Given the description of an element on the screen output the (x, y) to click on. 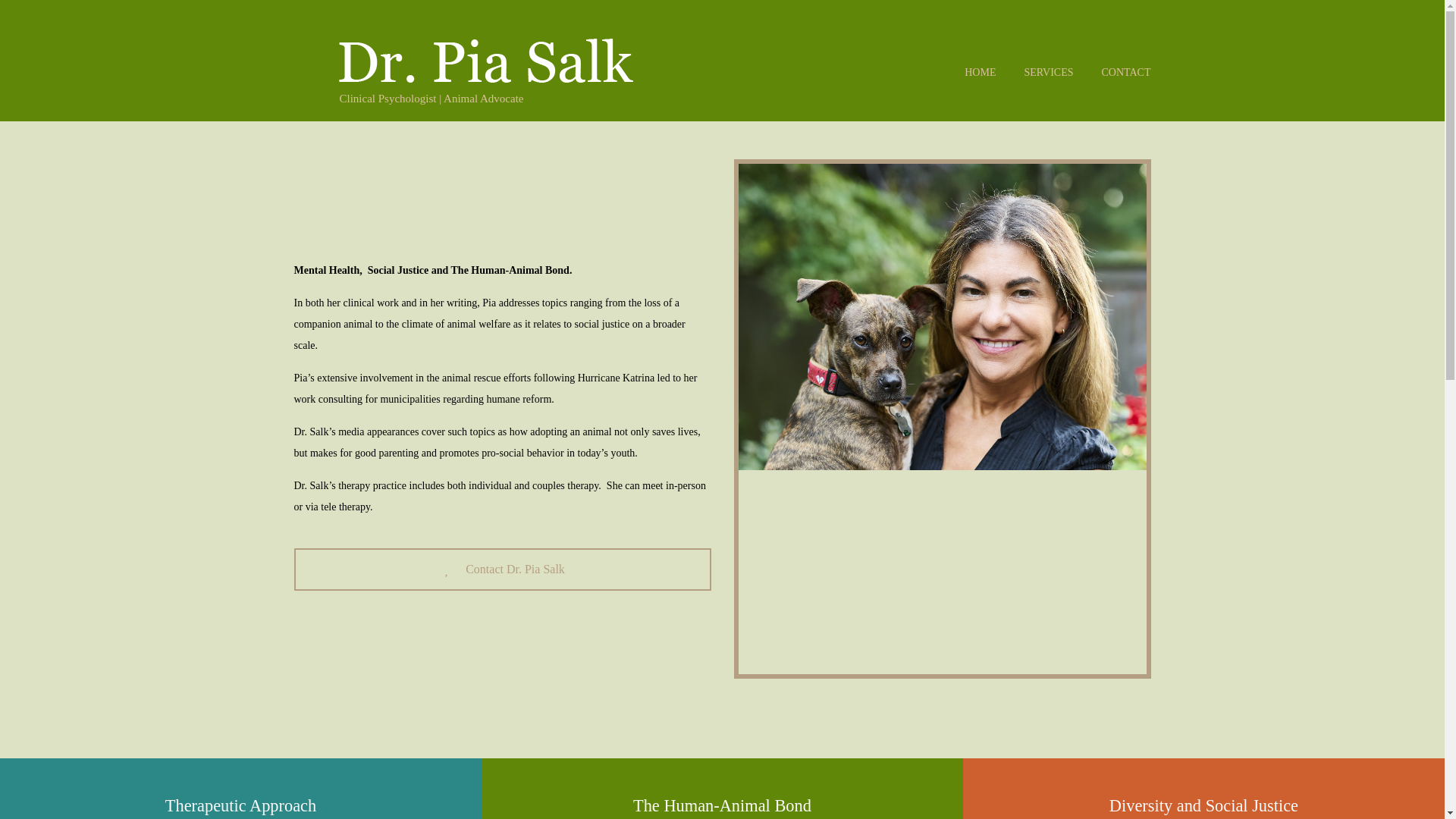
Dr Pia Salk (483, 60)
Contact Dr. Pia Salk (502, 568)
HOME (979, 72)
CONTACT (502, 568)
CONTACT (1126, 72)
Dr Pia Salk (483, 60)
SERVICES (1048, 72)
